Given the description of an element on the screen output the (x, y) to click on. 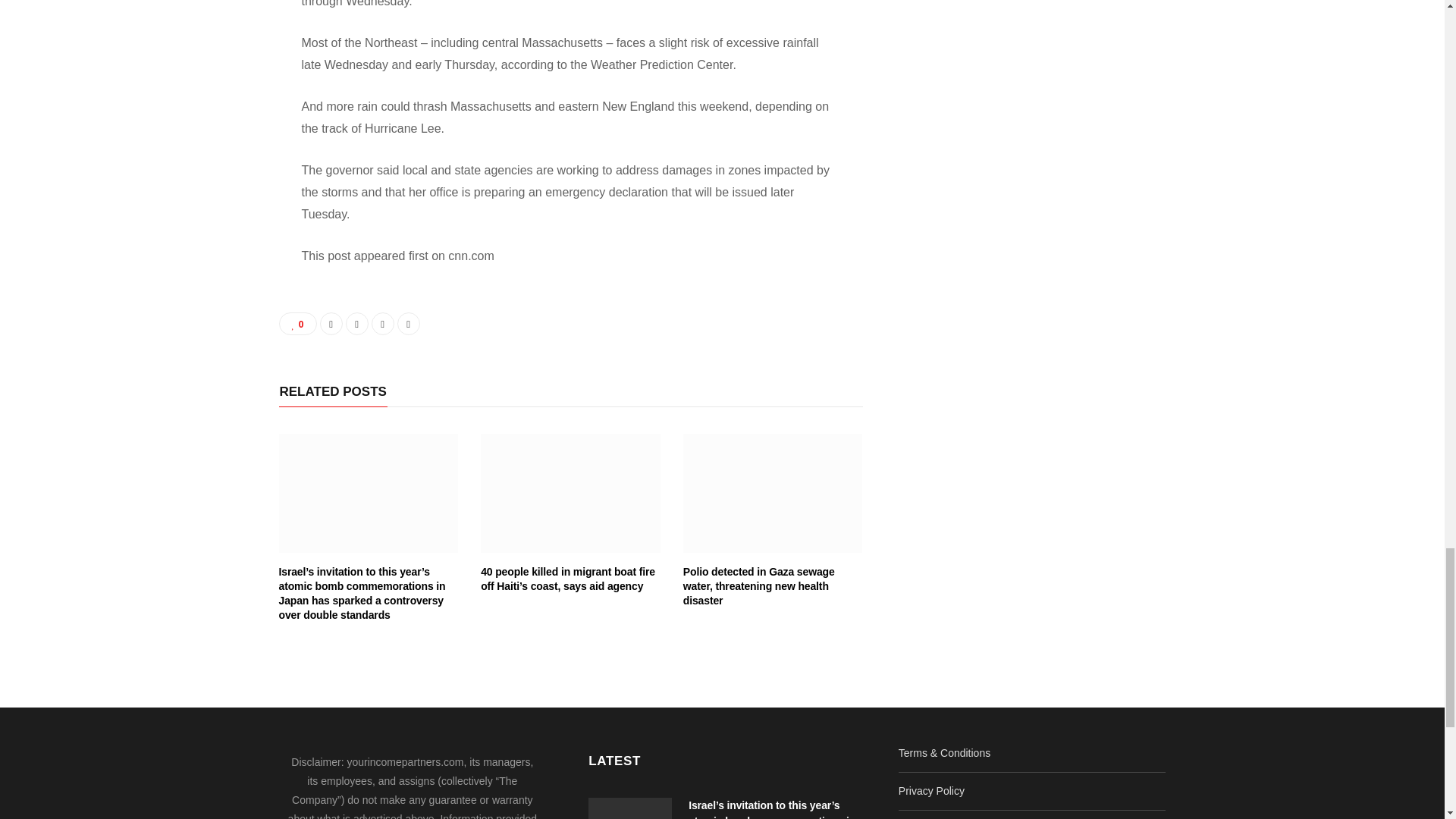
0 (298, 323)
